Given the description of an element on the screen output the (x, y) to click on. 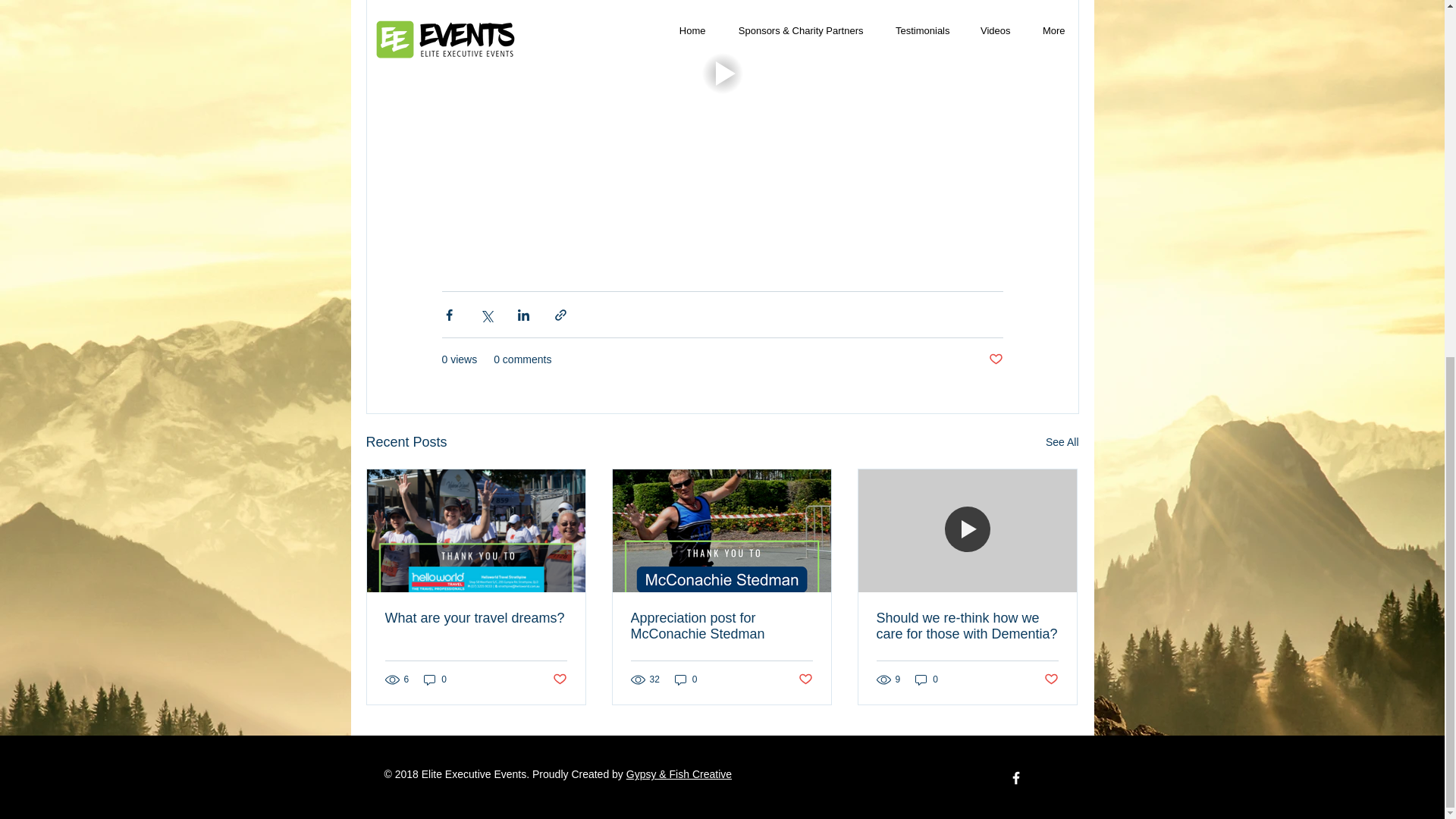
0 (926, 679)
Post not marked as liked (1050, 679)
0 (435, 679)
Post not marked as liked (995, 359)
Should we re-think how we care for those with Dementia? (967, 626)
Appreciation post for McConachie Stedman (721, 626)
Post not marked as liked (804, 679)
See All (1061, 442)
0 (685, 679)
Post not marked as liked (558, 679)
